Given the description of an element on the screen output the (x, y) to click on. 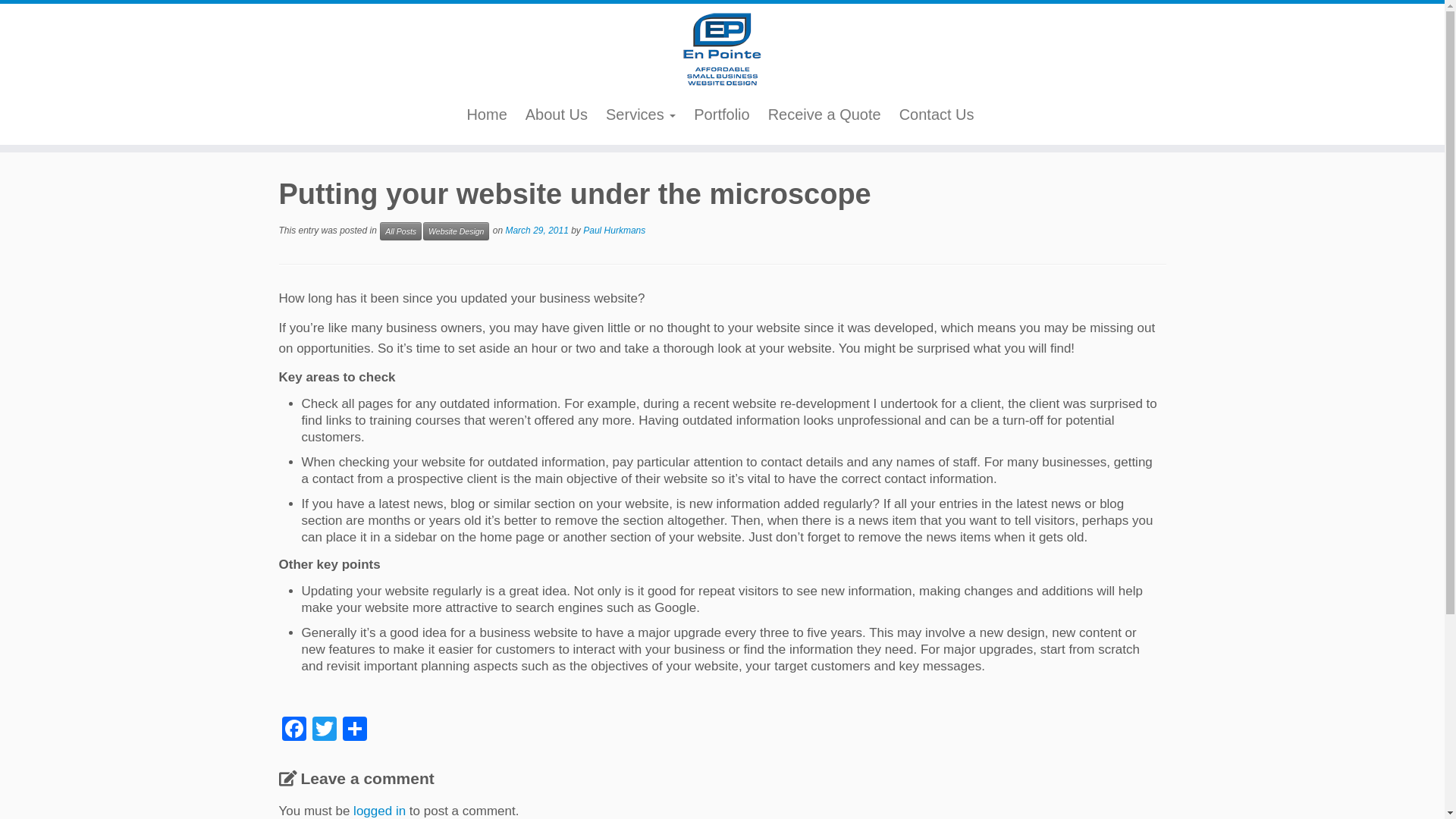
Services Element type: text (640, 114)
About Us Element type: text (556, 114)
Facebook Element type: text (294, 729)
All Posts Element type: text (400, 231)
logged in Element type: text (379, 810)
Contact Us Element type: text (936, 114)
Website Design Element type: text (456, 231)
Portfolio Element type: text (721, 114)
Share Element type: text (354, 729)
Home Element type: text (486, 114)
Twitter Element type: text (324, 729)
Receive a Quote Element type: text (824, 114)
March 29, 2011 Element type: text (536, 230)
Paul Hurkmans Element type: text (614, 230)
